Given the description of an element on the screen output the (x, y) to click on. 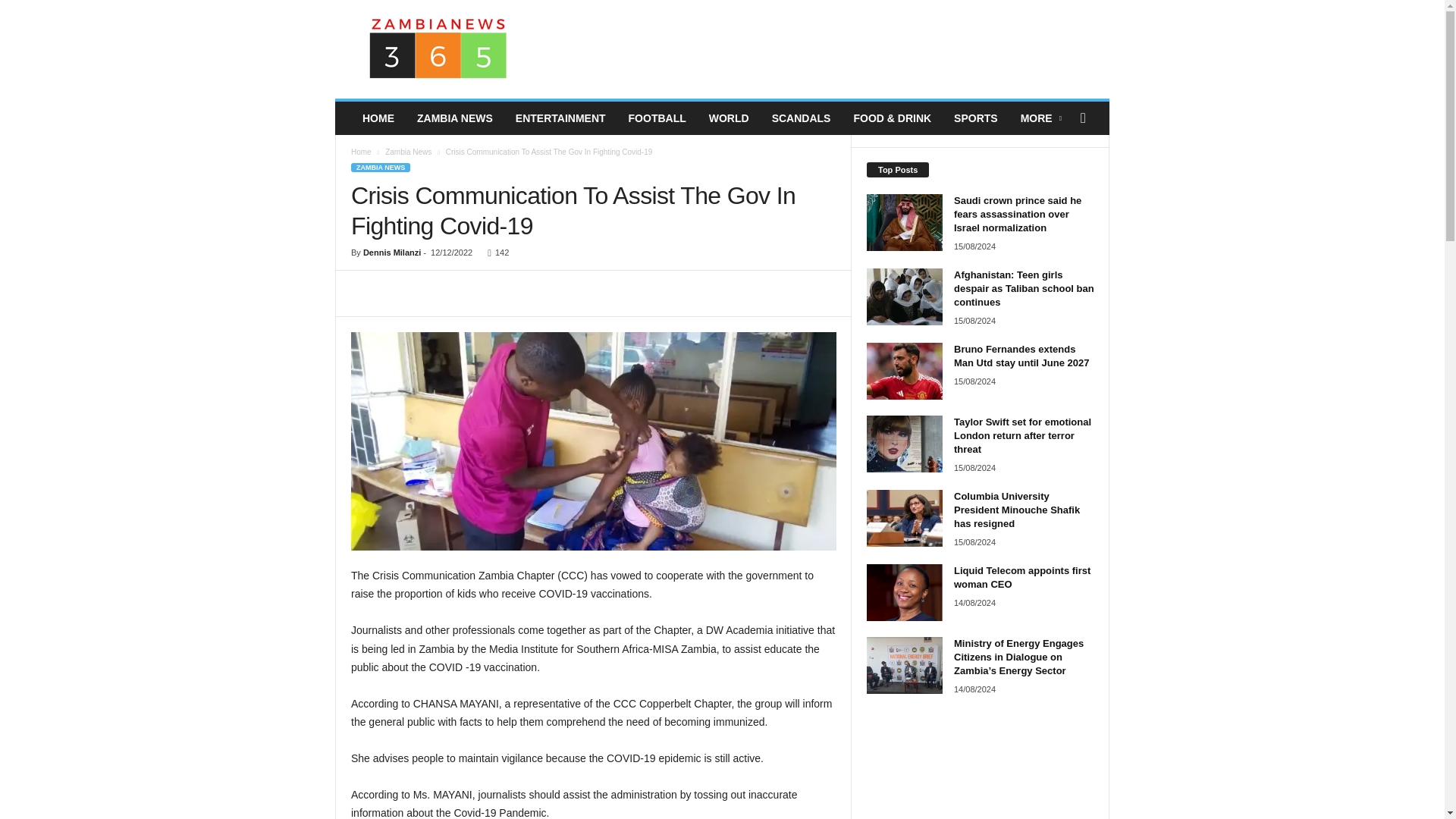
HOME (378, 118)
ZAMBIA NEWS (454, 118)
ZAMBIA NEWS (380, 166)
Zambia News (407, 152)
VACCINATE (592, 441)
SCANDALS (801, 118)
ENTERTAINMENT (560, 118)
View all posts in Zambia News (407, 152)
Home (360, 152)
FOOTBALL (657, 118)
